Given the description of an element on the screen output the (x, y) to click on. 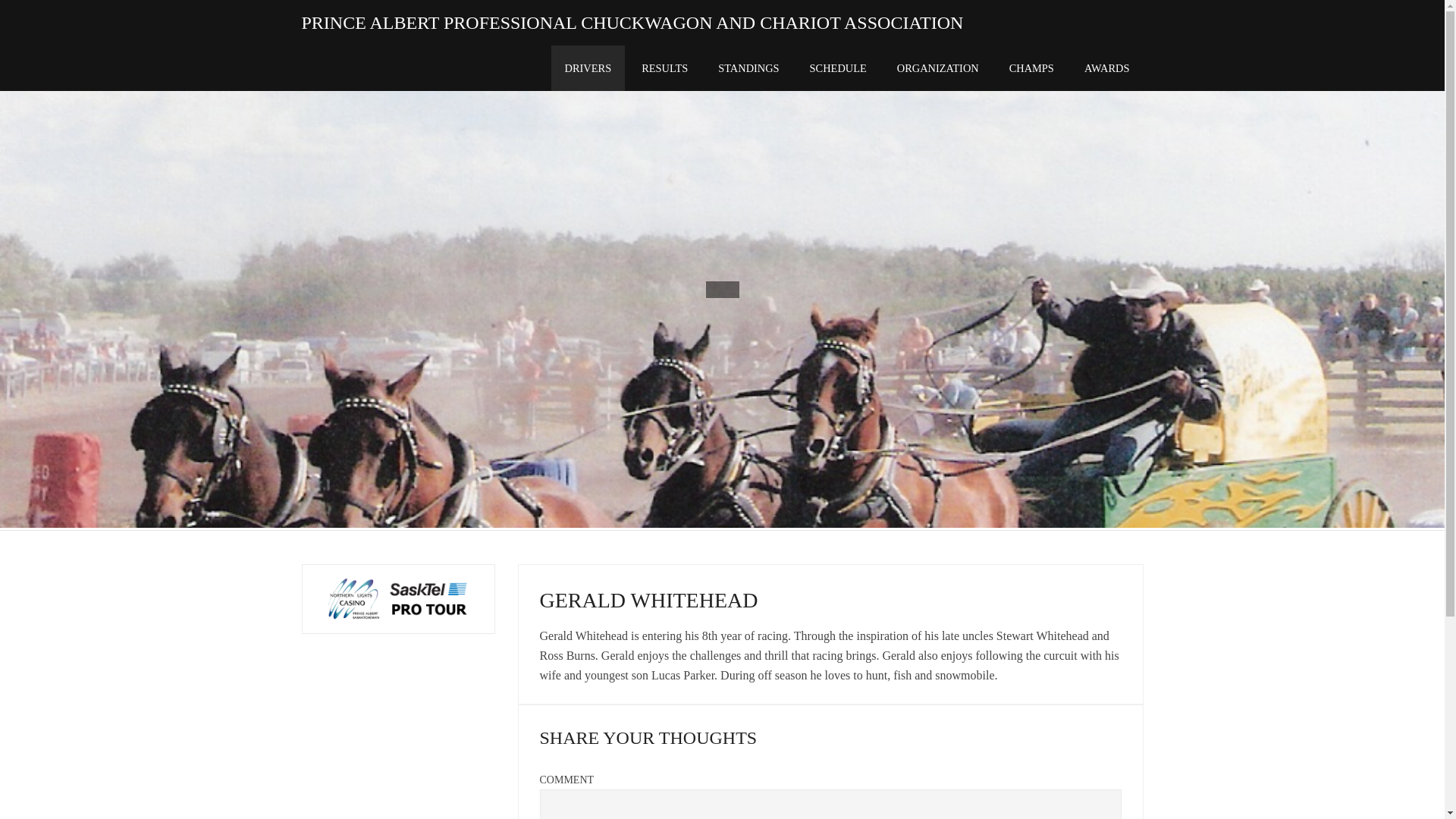
RESULTS (664, 67)
DRIVERS (588, 67)
